Given the description of an element on the screen output the (x, y) to click on. 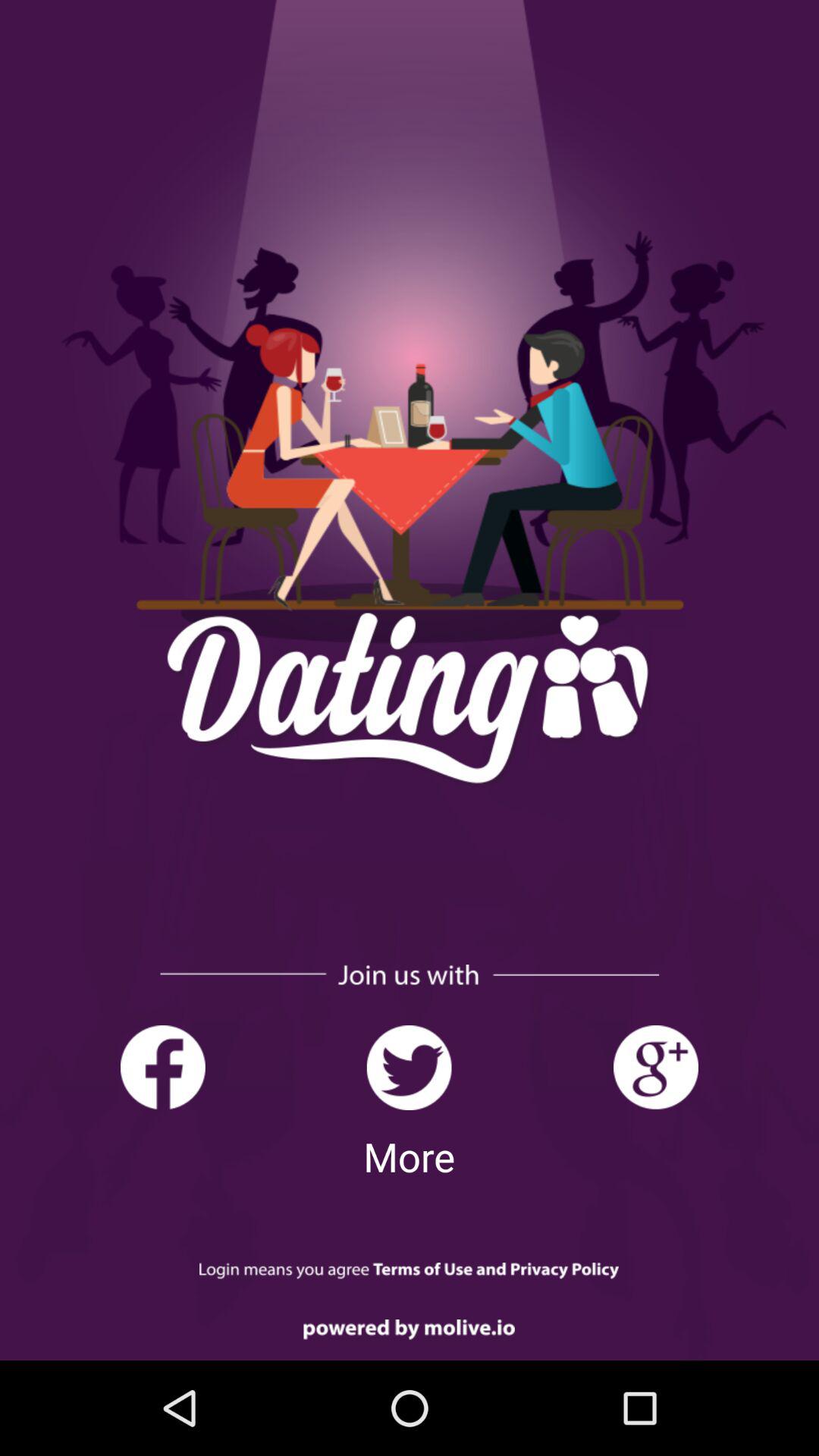
facebook page (162, 1067)
